Given the description of an element on the screen output the (x, y) to click on. 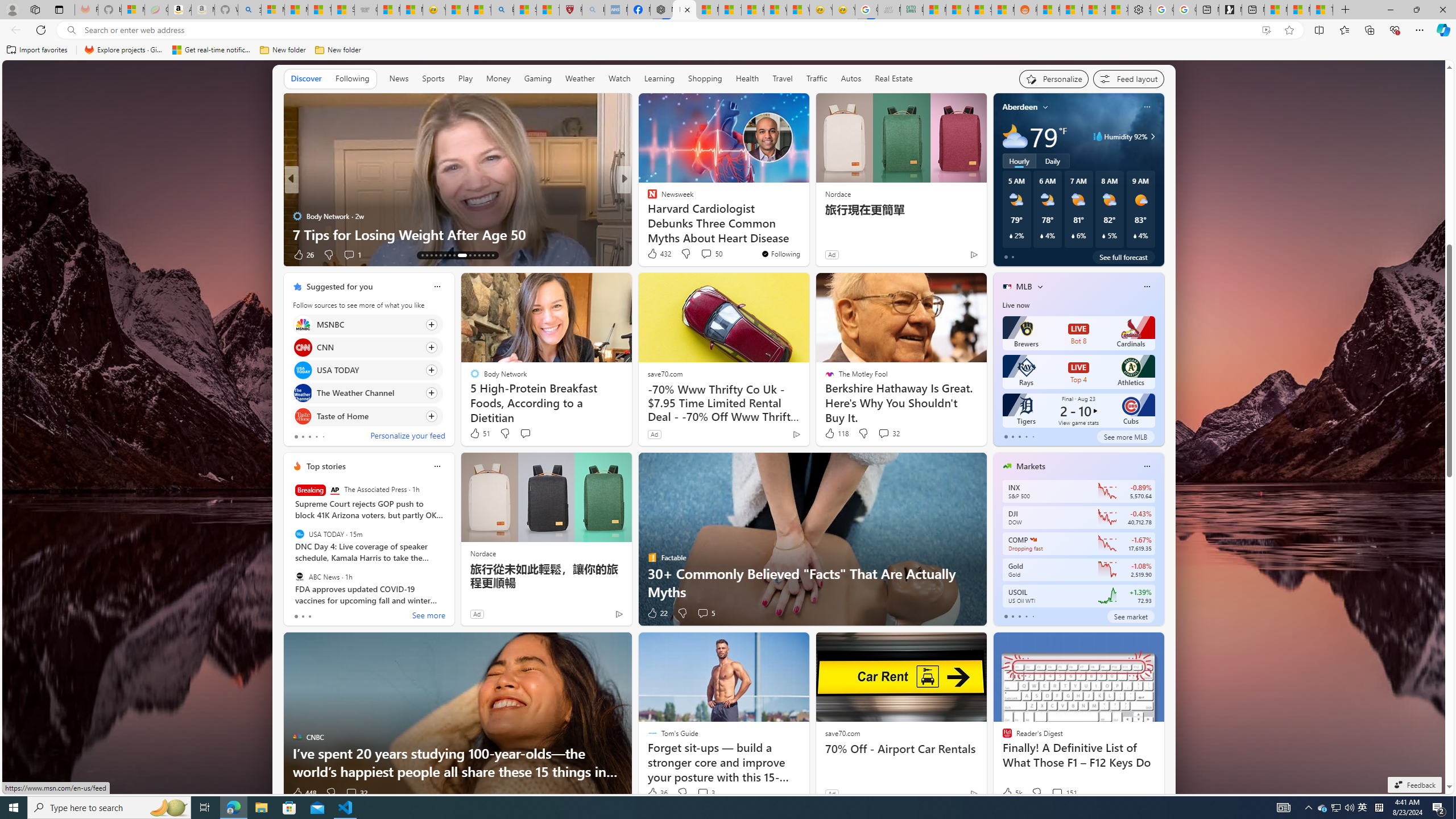
118 Like (835, 433)
AutomationID: tab-80 (488, 255)
Bored Panda (647, 215)
22 Like (657, 612)
Feed settings (1128, 78)
432 Like (658, 253)
Taste of Home (302, 416)
tab-3 (1025, 616)
256 Like (654, 254)
tab-4 (1032, 616)
Autos (851, 78)
View comments 7 Comment (698, 254)
MSNBC (302, 324)
